Given the description of an element on the screen output the (x, y) to click on. 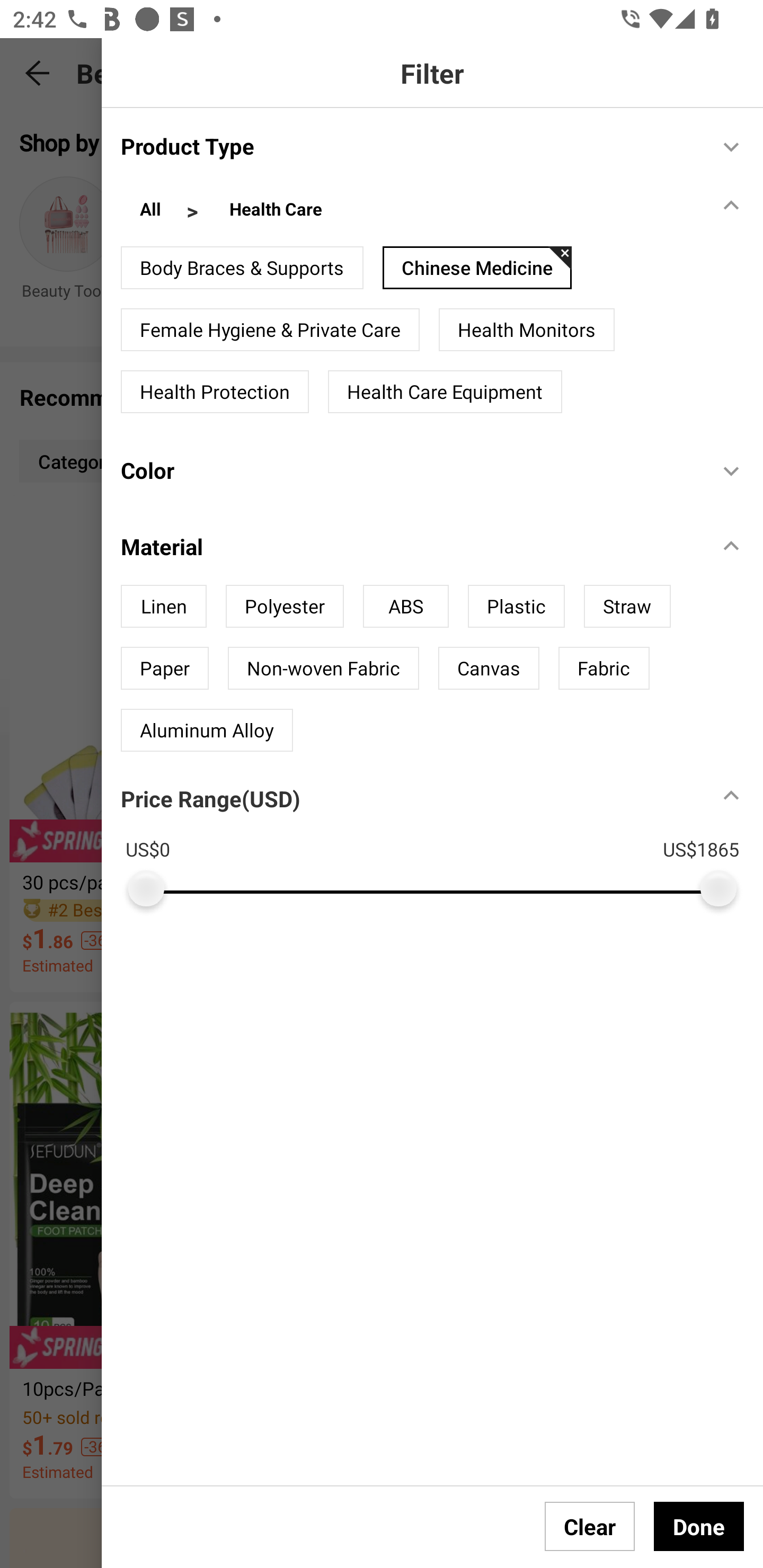
Product Type (409, 145)
All (150, 210)
> Health Care (263, 210)
Health Care (275, 210)
Body Braces & Supports (241, 267)
Chinese Medicine (476, 267)
Female Hygiene & Private Care (269, 329)
Health Monitors (526, 329)
Health Protection (214, 391)
Health Care Equipment (445, 391)
Color (409, 470)
Material (409, 546)
Linen (163, 605)
Polyester (284, 605)
ABS (405, 605)
Plastic (515, 605)
Straw (626, 605)
Paper (164, 667)
Non-woven Fabric (323, 667)
Canvas (488, 667)
Fabric (603, 667)
Aluminum Alloy (206, 729)
Price Range(USD) US$0 US$1865 (441, 837)
Price Range(USD) (210, 798)
Clear (589, 1526)
Done (698, 1526)
